Given the description of an element on the screen output the (x, y) to click on. 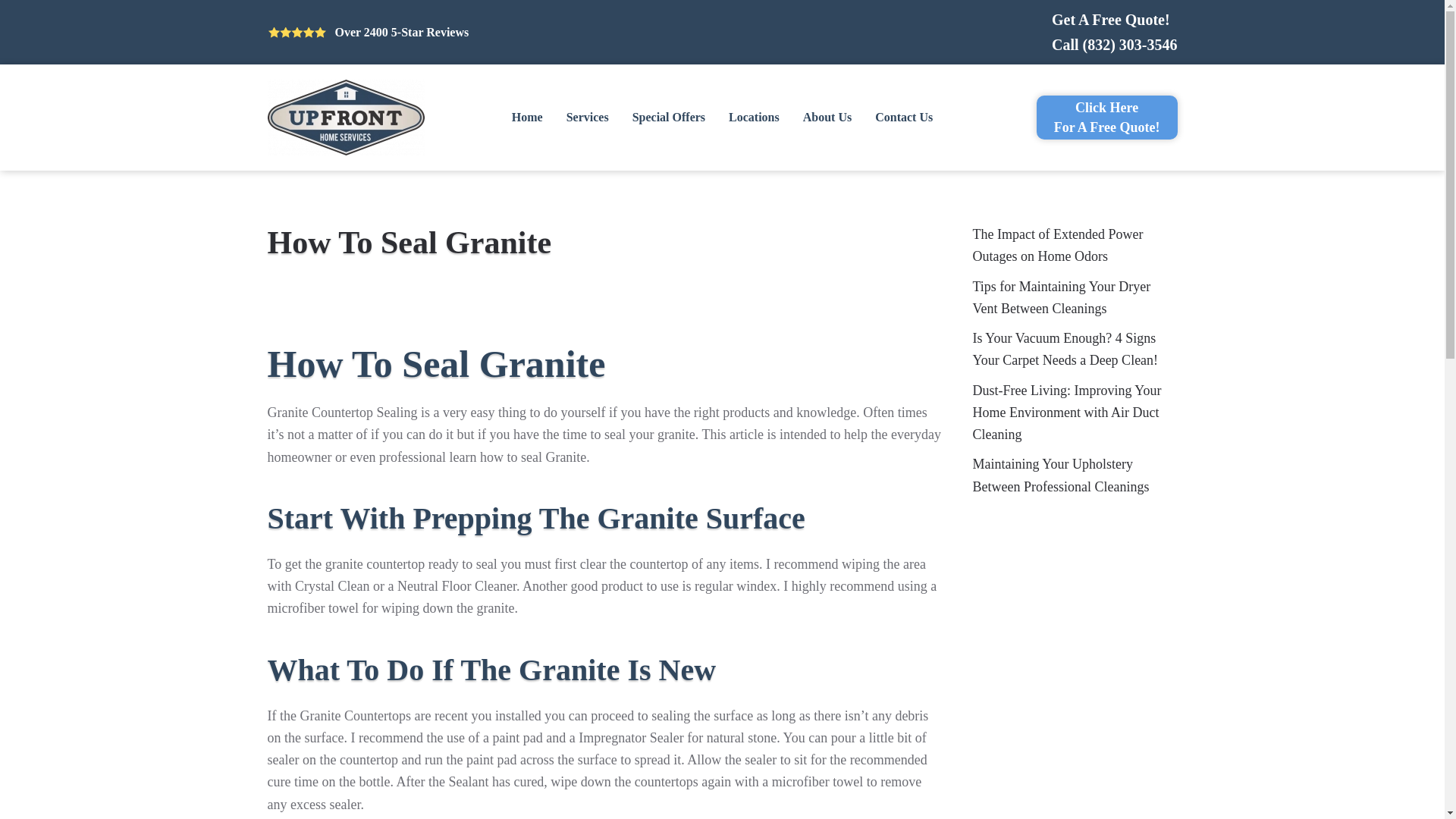
Over 2400 5-Star Reviews (401, 31)
